Given the description of an element on the screen output the (x, y) to click on. 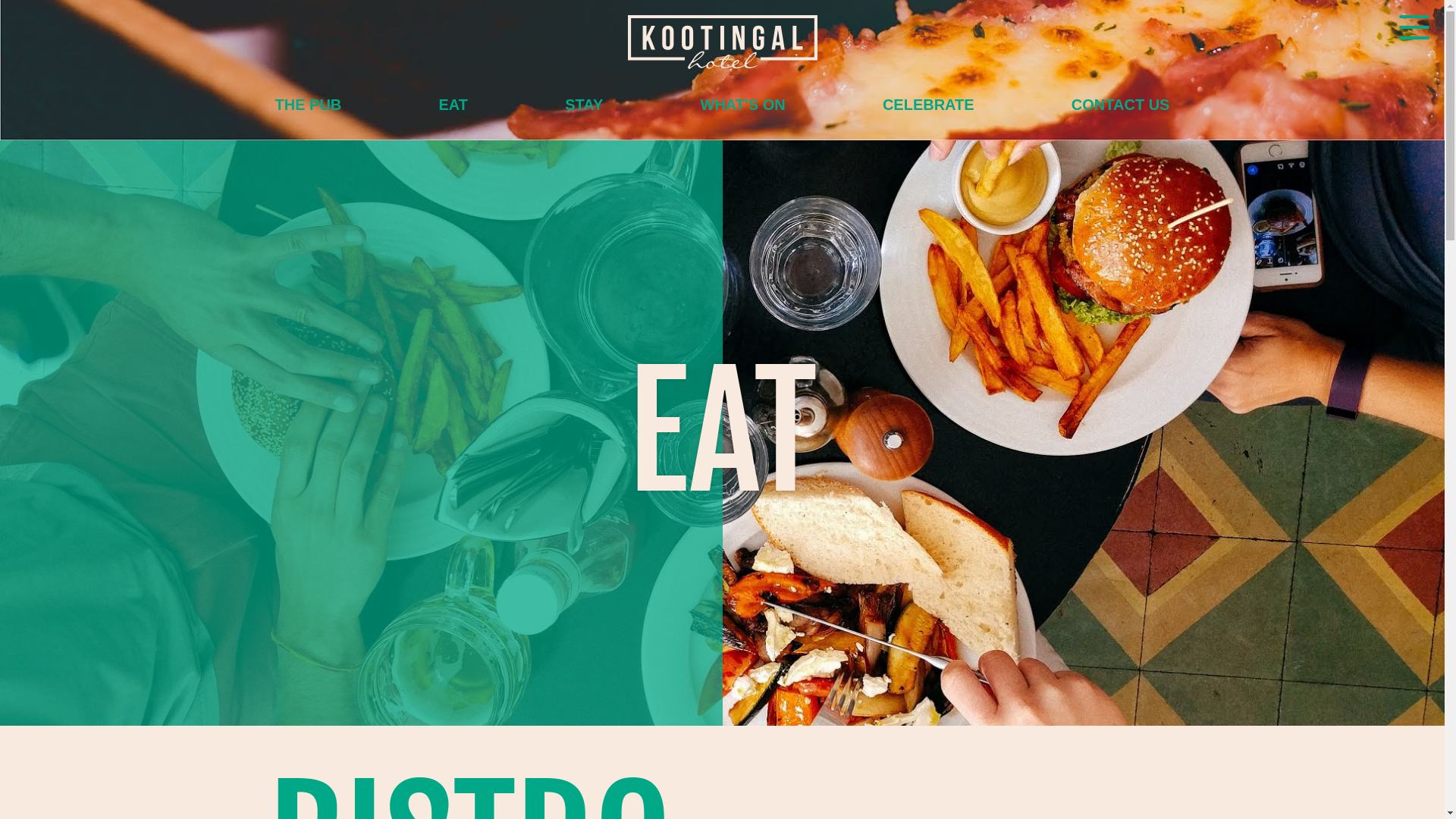
STAY Element type: text (583, 104)
THE PUB Element type: text (307, 104)
EAT Element type: text (453, 104)
Menu Element type: hover (1414, 30)
WHAT'S ON Element type: text (743, 104)
CONTACT US Element type: text (1120, 104)
CELEBRATE Element type: text (928, 104)
